Given the description of an element on the screen output the (x, y) to click on. 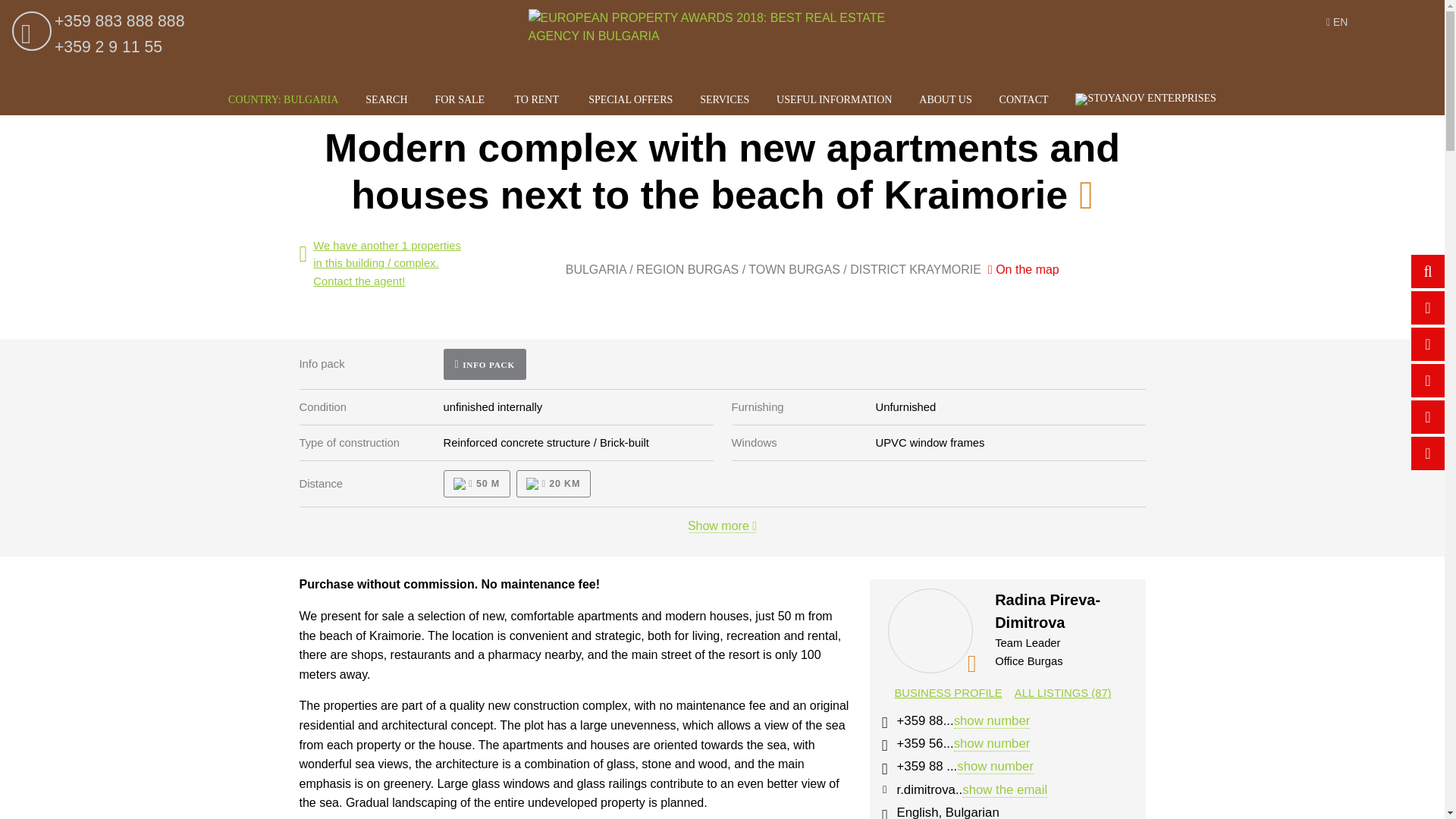
Send an email (883, 788)
Spoken languages (883, 813)
Distance to the water basin (475, 483)
Mobile phone (883, 722)
Add to favourites (1085, 195)
SMS, Viber, WhatsApp (883, 769)
Landline (883, 745)
